Given the description of an element on the screen output the (x, y) to click on. 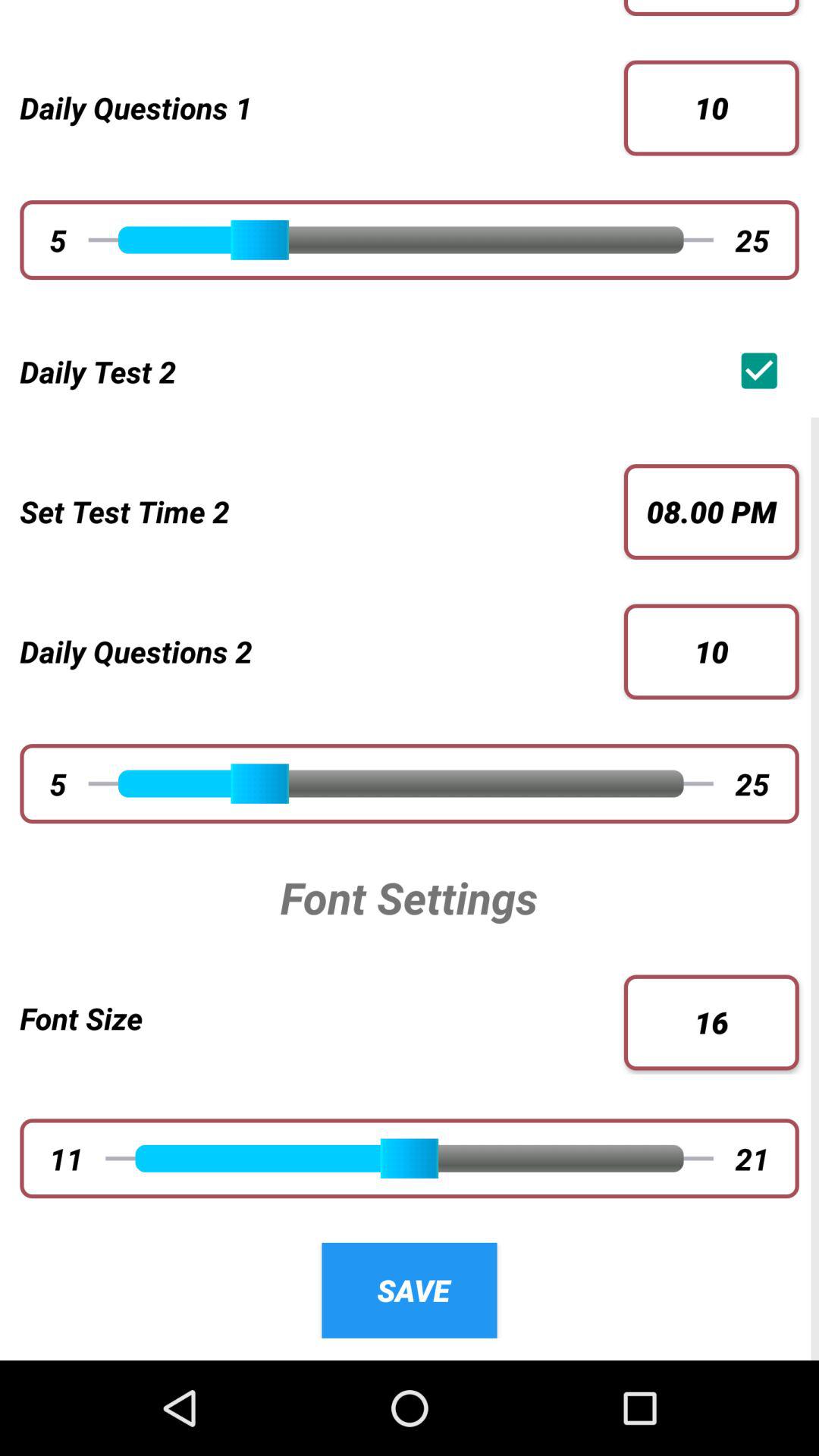
open the icon to the left of  08.00 pm  item (311, 511)
